Given the description of an element on the screen output the (x, y) to click on. 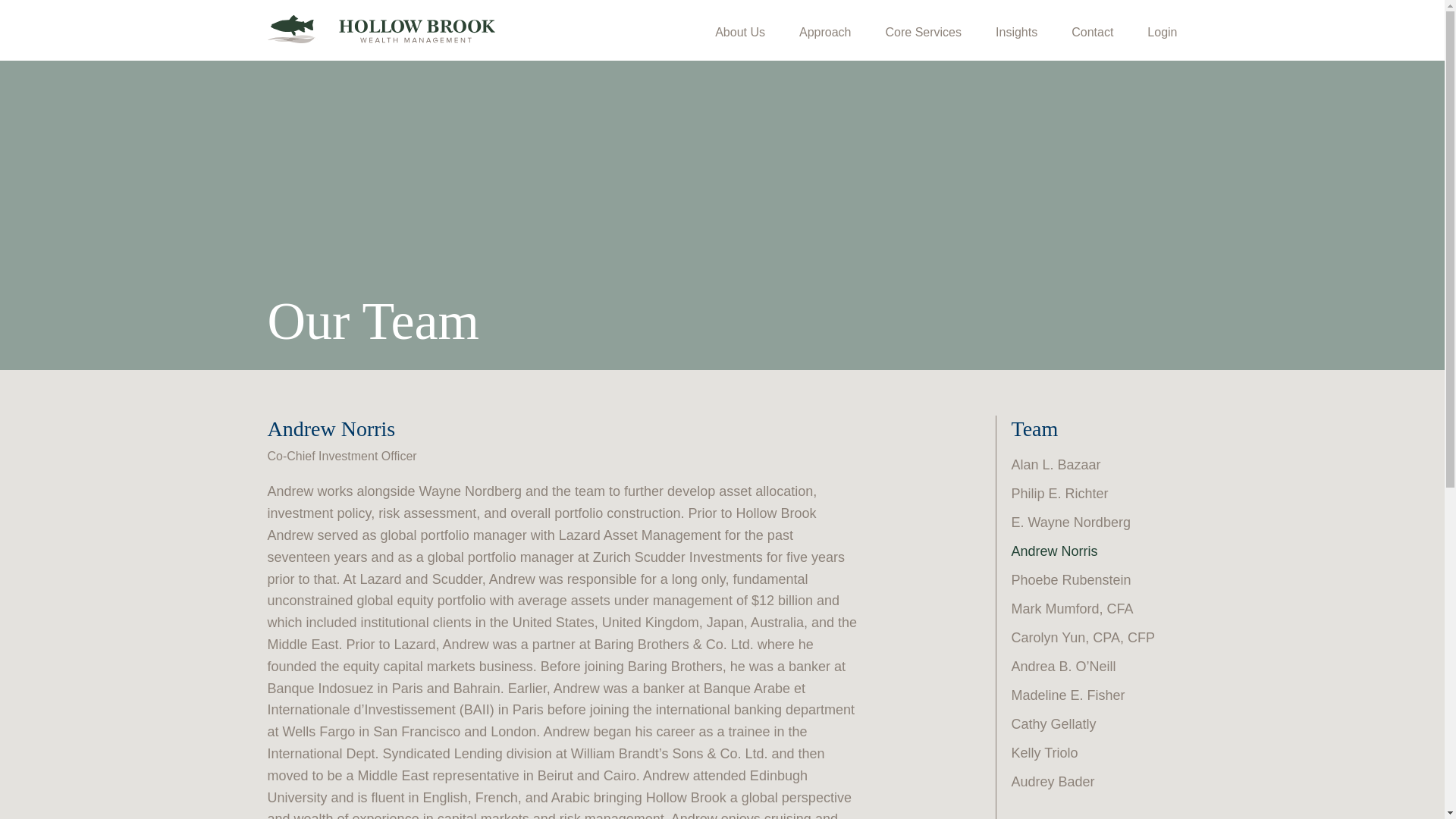
Mark Mumford, CFA (1072, 608)
Kelly Triolo (1044, 752)
Login (1161, 35)
About Us (739, 35)
Madeline E. Fisher (1068, 694)
Phoebe Rubenstein (1071, 580)
Approach (825, 35)
Philip E. Richter (1059, 493)
Andrew Norris (1054, 550)
Insights (1015, 35)
